Given the description of an element on the screen output the (x, y) to click on. 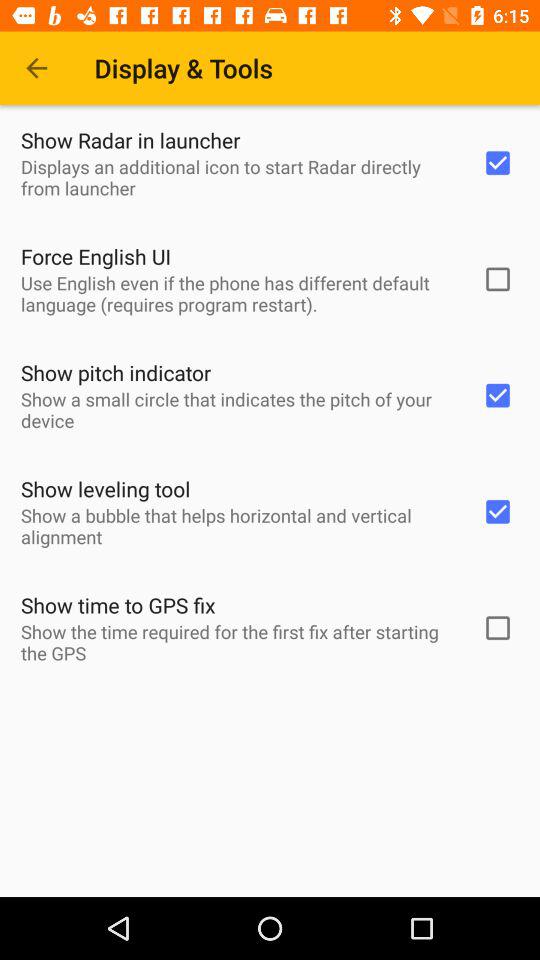
scroll to force english ui icon (95, 256)
